Given the description of an element on the screen output the (x, y) to click on. 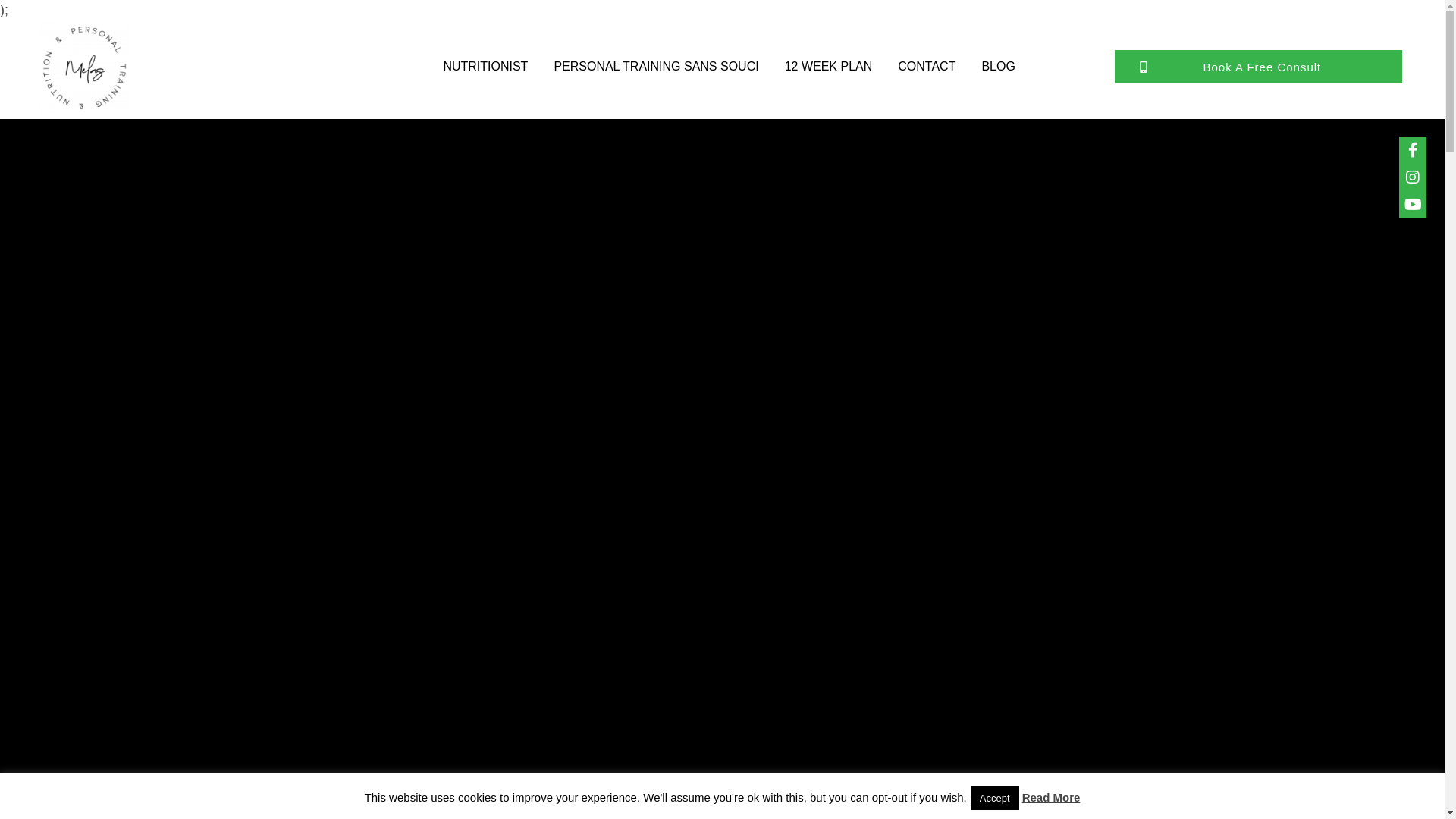
CONTACT Element type: text (926, 66)
Book A Free Consult Element type: text (1258, 66)
12 WEEK PLAN Element type: text (828, 66)
NUTRITIONIST Element type: text (484, 66)
BLOG Element type: text (997, 66)
Read More Element type: text (1051, 796)
PERSONAL TRAINING SANS SOUCI Element type: text (655, 66)
Accept Element type: text (994, 797)
